Given the description of an element on the screen output the (x, y) to click on. 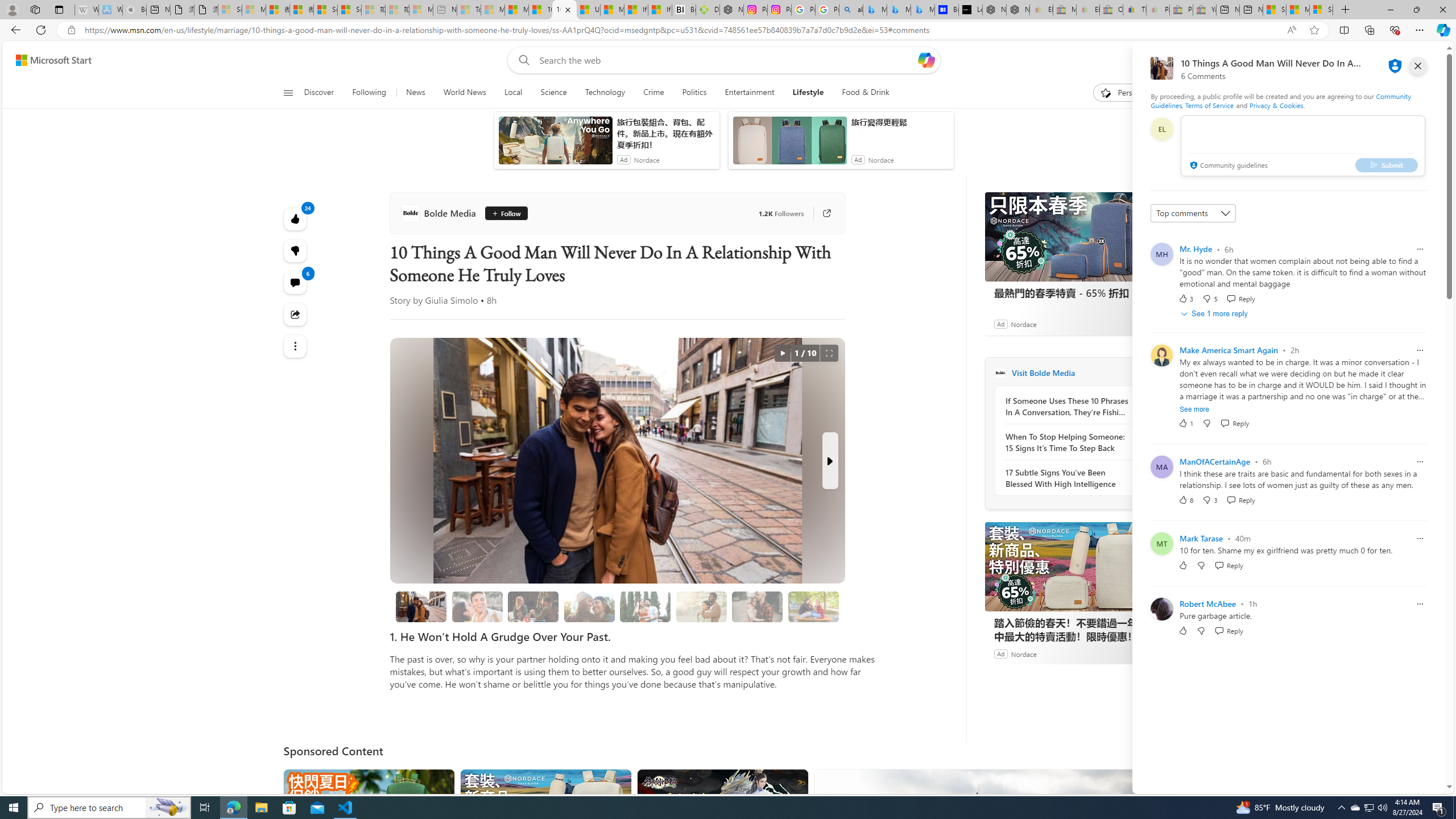
Entertainment (748, 92)
Workspaces (34, 9)
Following (368, 92)
Marine life - MSN - Sleeping (492, 9)
boyfriend holding girlfriend close sunshine (701, 606)
World News (464, 92)
Privacy & Cookies (1276, 104)
Go to publisher's site (820, 213)
